Given the description of an element on the screen output the (x, y) to click on. 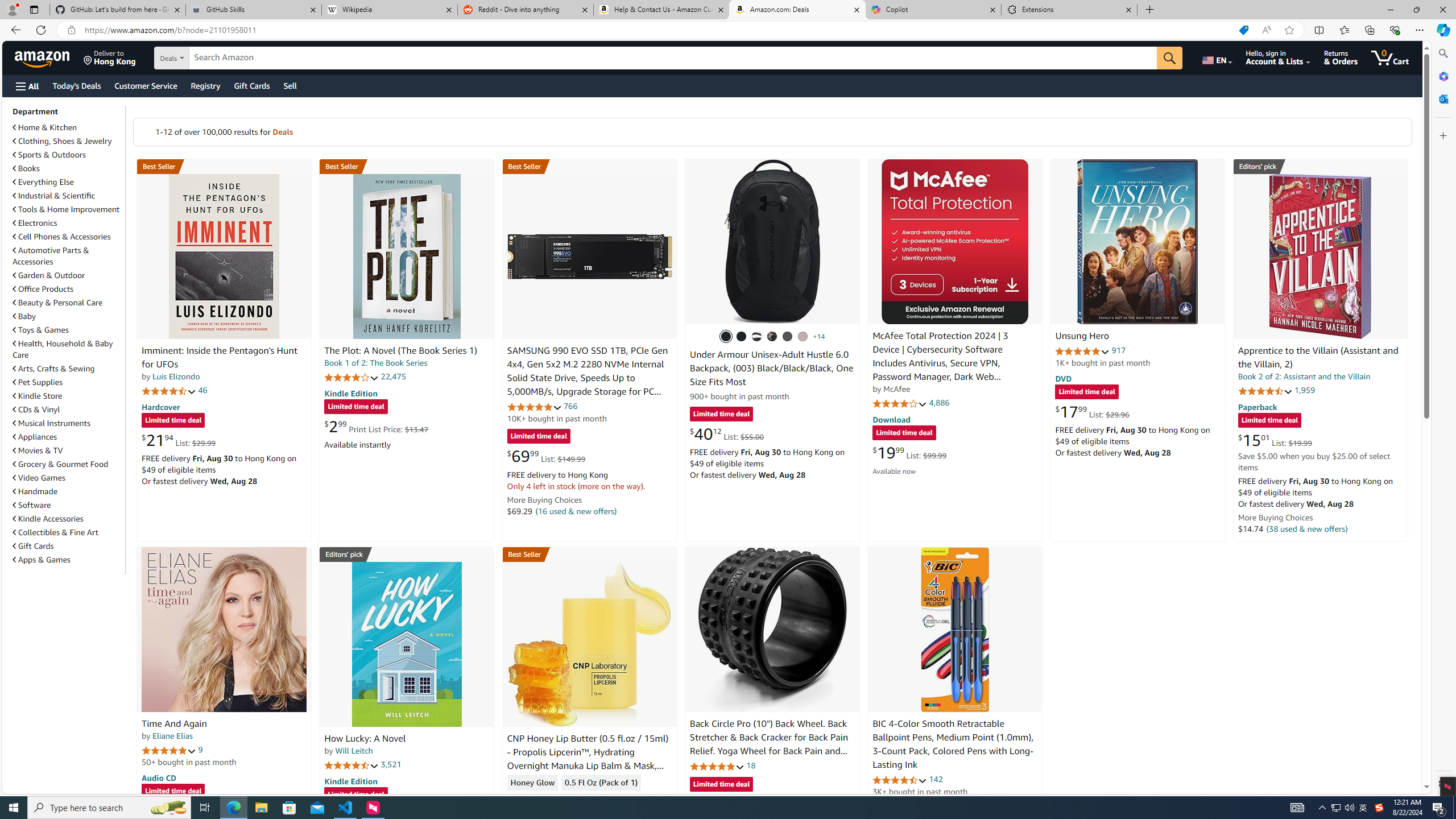
Amazon (43, 57)
4.9 out of 5 stars (1082, 351)
Best Seller in Internal Solid State Drives (589, 165)
Industrial & Scientific (54, 195)
Cell Phones & Accessories (61, 236)
Best Seller in Lip Butters (589, 553)
4.7 out of 5 stars (168, 390)
Help & Contact Us - Amazon Customer Service (660, 9)
Clothing, Shoes & Jewelry (67, 140)
Electronics (67, 222)
(005) Black Full Heather / Black / Metallic Gold (788, 336)
(001) Black / Black / Metallic Gold (741, 336)
Apps & Games (41, 559)
Tools & Home Improvement (67, 208)
